Given the description of an element on the screen output the (x, y) to click on. 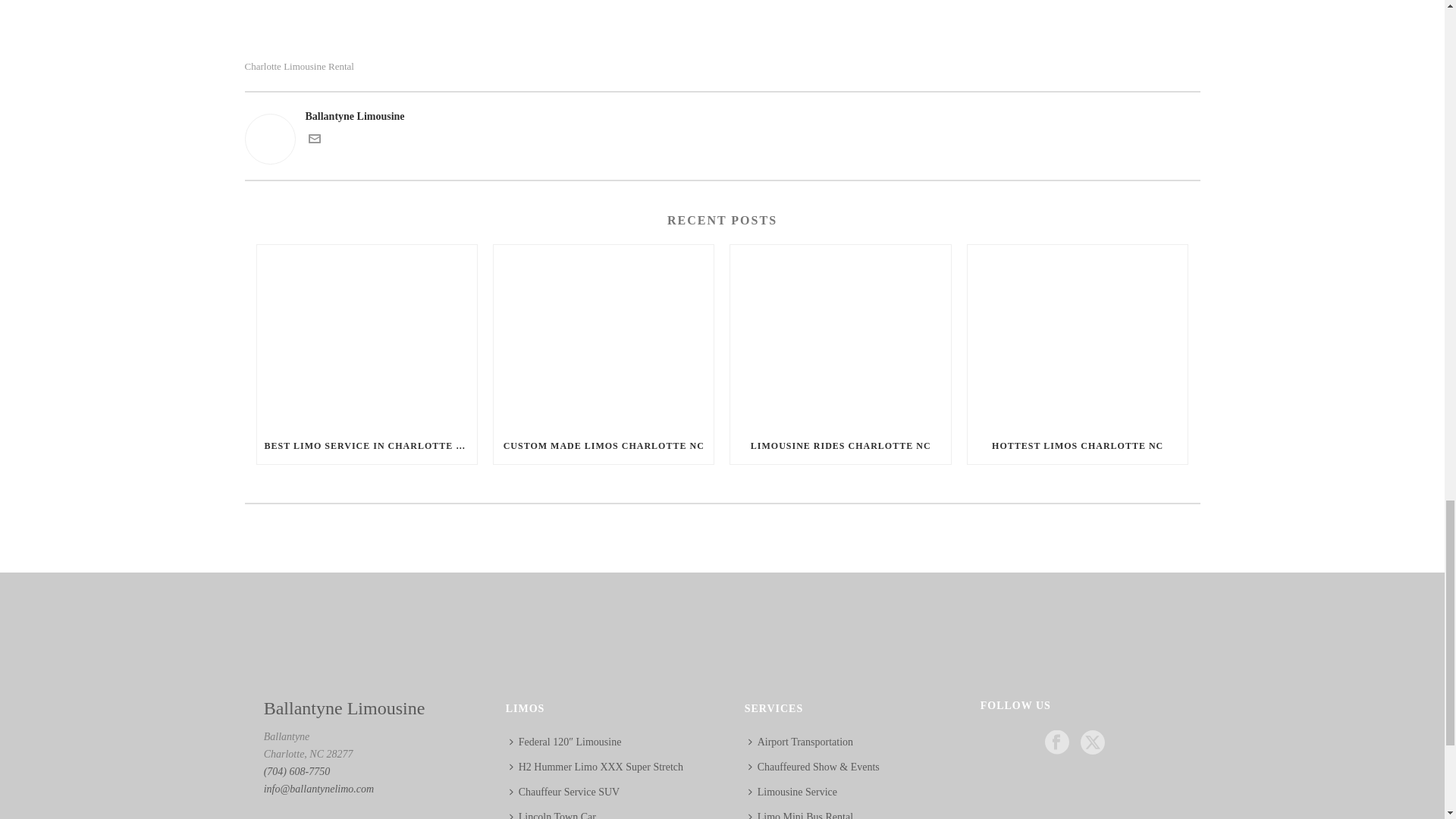
Custom Made Limos Charlotte NC (603, 335)
Limousine Rides Charlotte NC (840, 335)
Best Limo Service in Charlotte NC (366, 335)
Get in touch with me via email (313, 141)
Follow Us on twitter (1092, 743)
Follow Us on facebook (1056, 743)
Hottest Limos Charlotte NC (1078, 335)
